Given the description of an element on the screen output the (x, y) to click on. 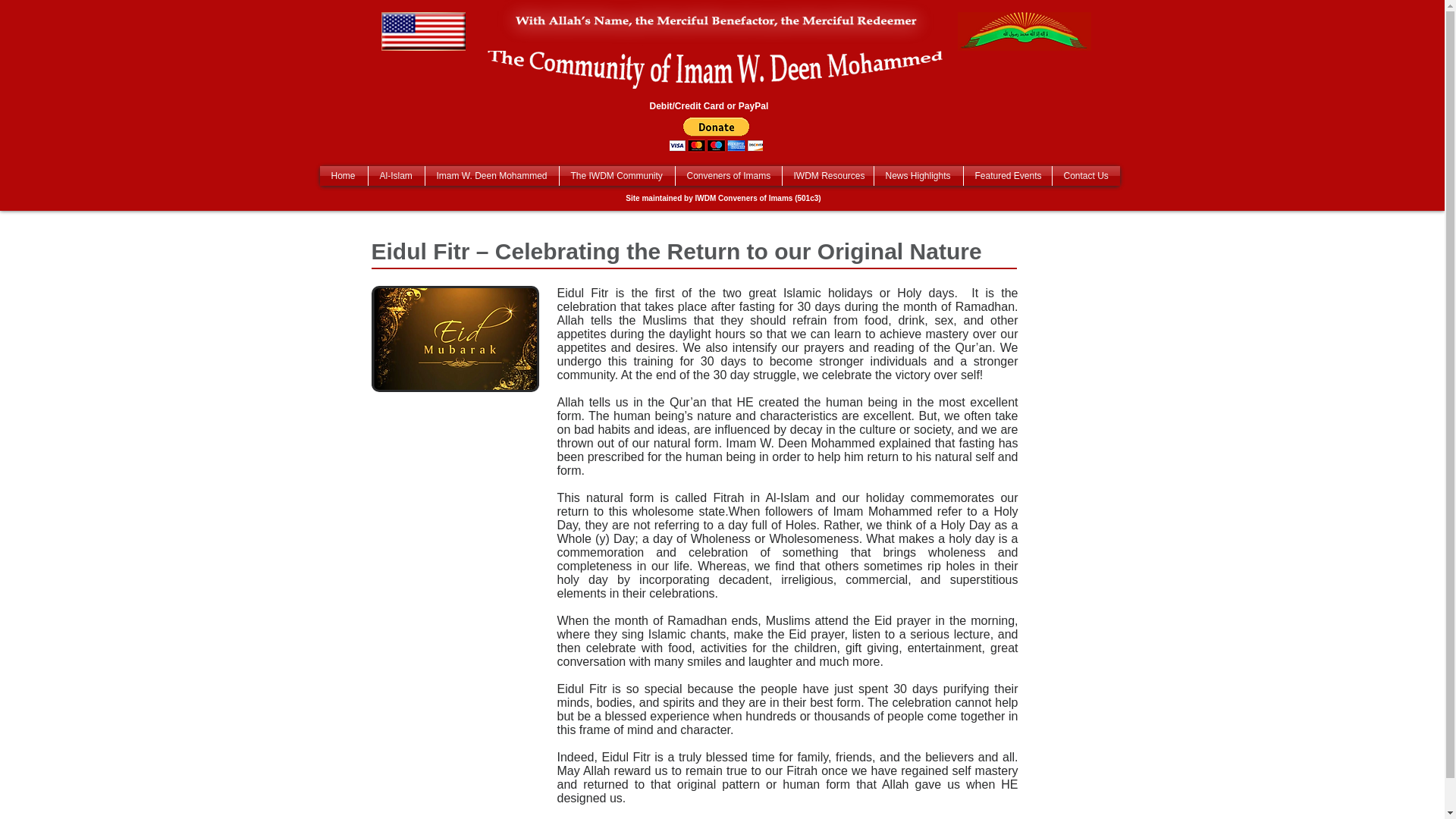
The IWDM Community (617, 175)
Imam W. Deen Mohammed (491, 175)
Al-Islam (396, 175)
Conveners of Imams (727, 175)
Home (344, 175)
IWDM Resources (828, 175)
